Given the description of an element on the screen output the (x, y) to click on. 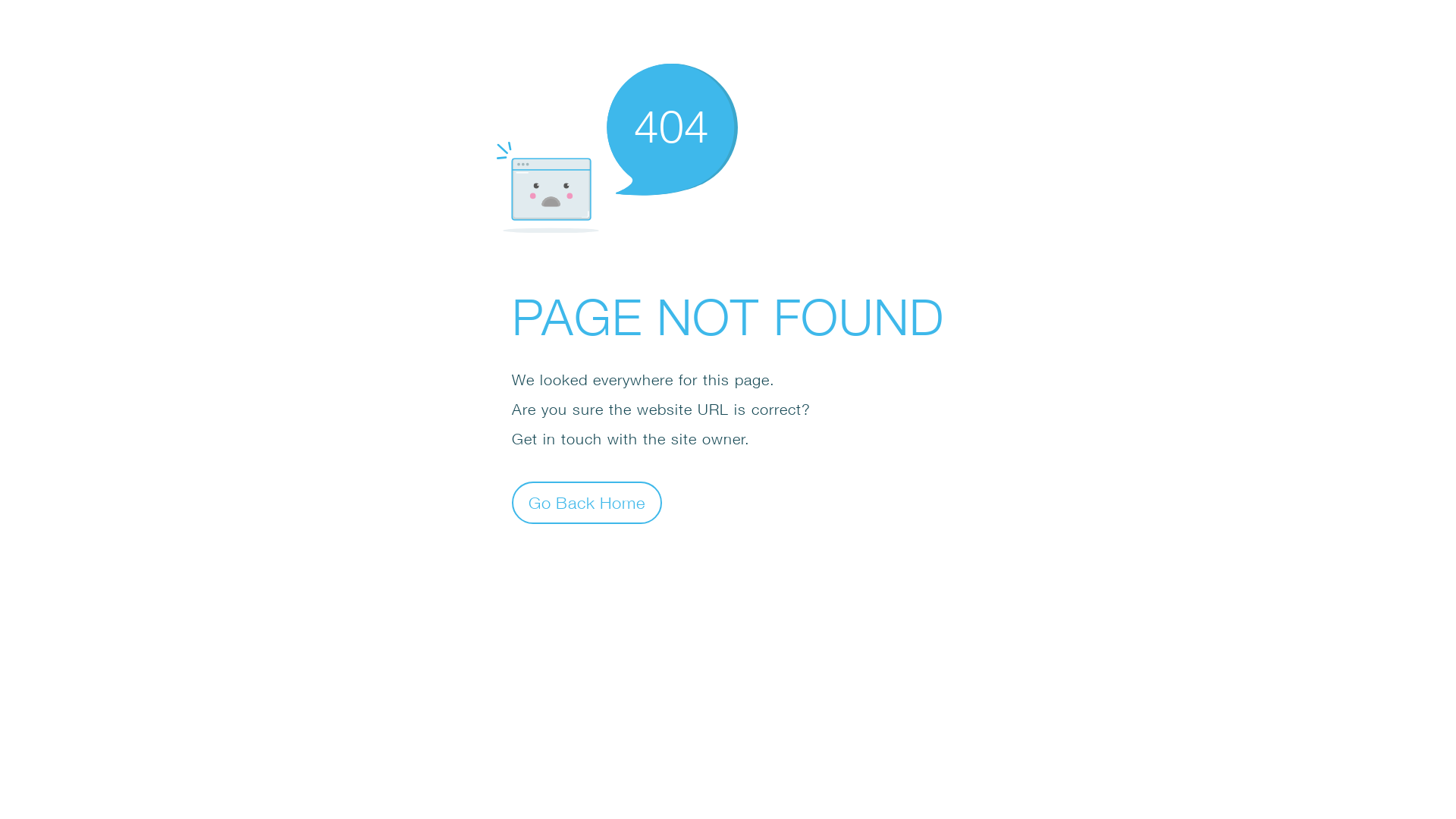
Go Back Home Element type: text (586, 502)
